Given the description of an element on the screen output the (x, y) to click on. 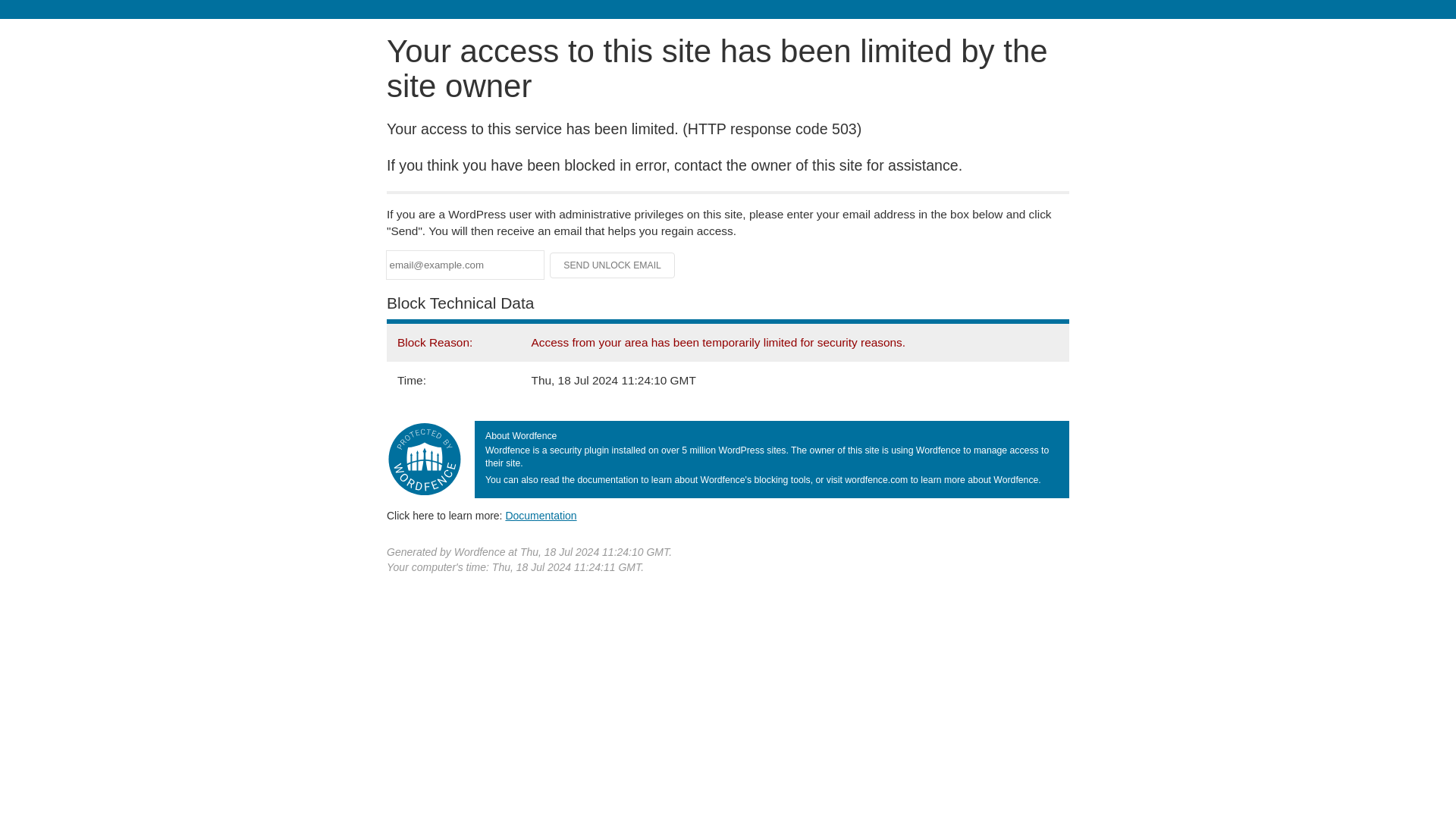
Documentation (540, 515)
Send Unlock Email (612, 265)
Send Unlock Email (612, 265)
